Given the description of an element on the screen output the (x, y) to click on. 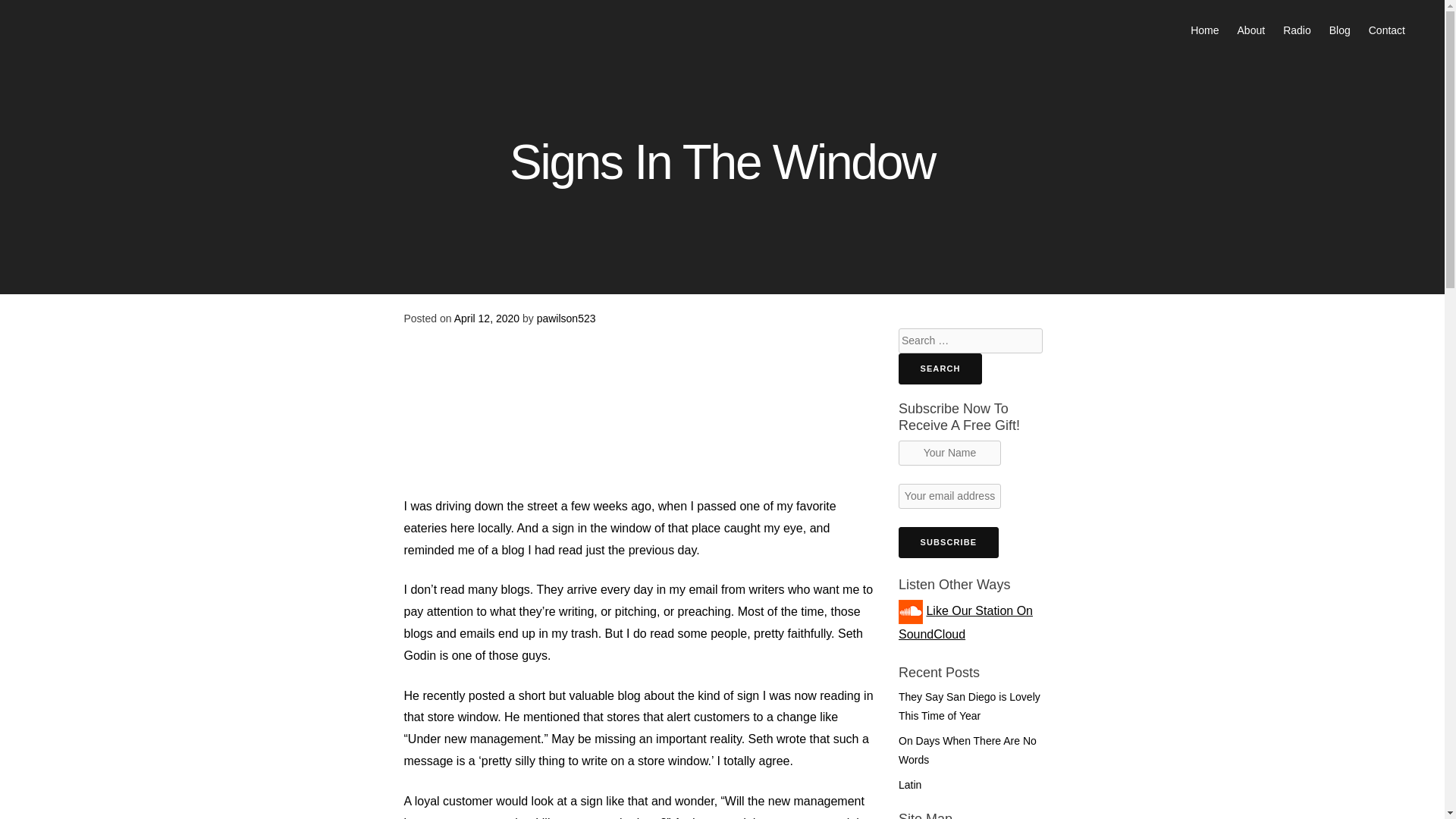
Like Our Station On SoundCloud (965, 622)
Search (939, 368)
Latin (909, 784)
Subscribe (948, 542)
Search (939, 368)
Subscribe (948, 542)
On Days When There Are No Words (967, 749)
Search (939, 368)
They Say San Diego is Lovely This Time of Year (969, 706)
